Given the description of an element on the screen output the (x, y) to click on. 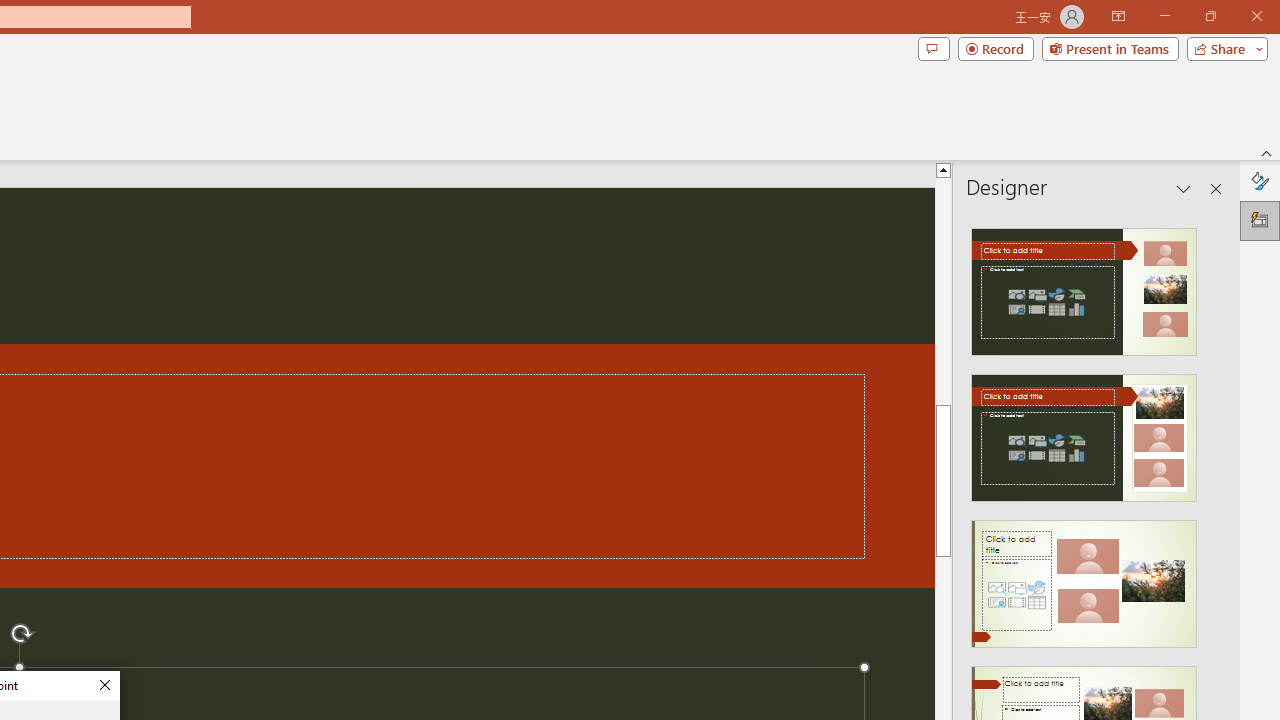
Recommended Design: Design Idea (1083, 286)
